Given the description of an element on the screen output the (x, y) to click on. 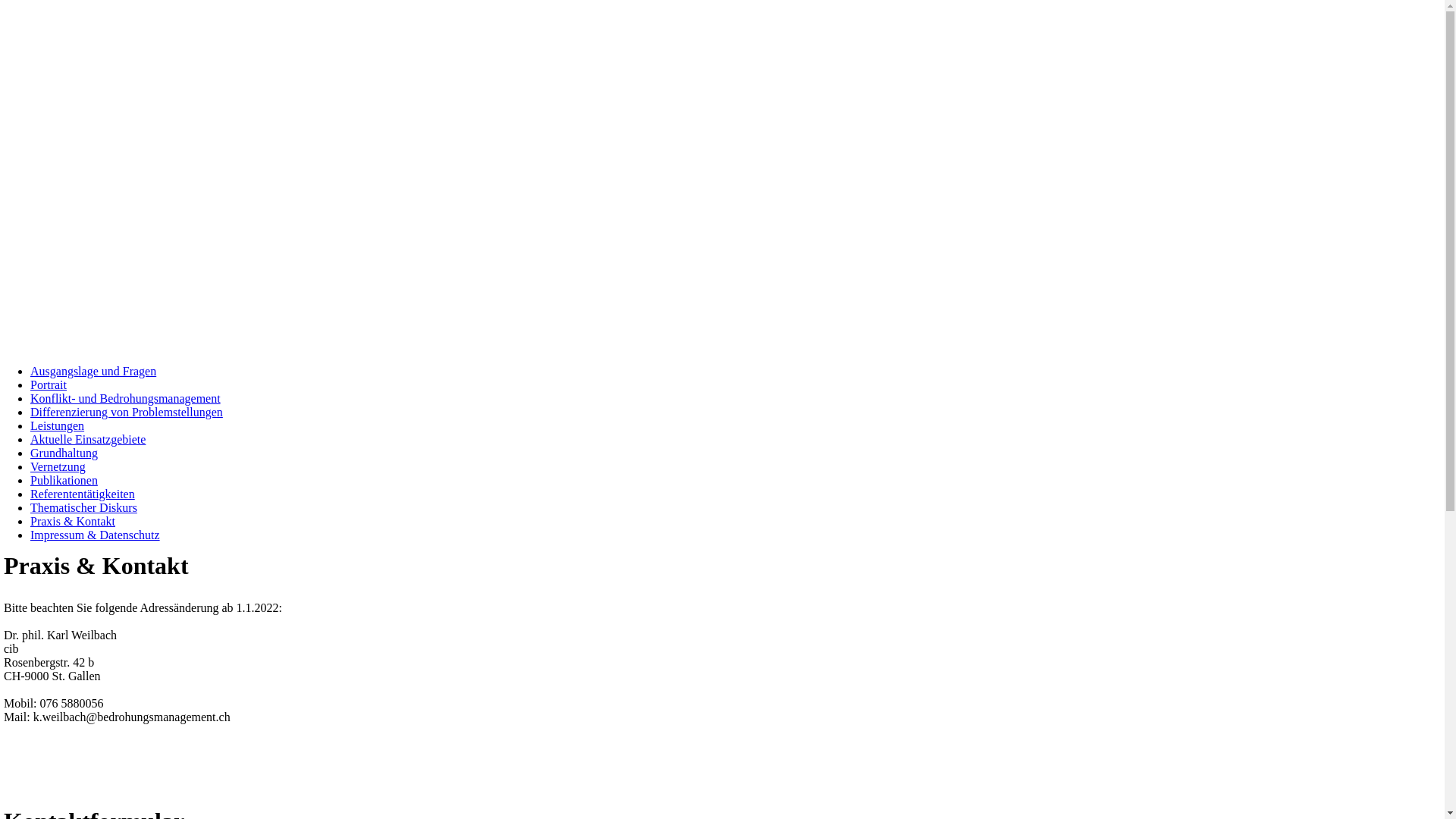
Grundhaltung Element type: text (63, 452)
Differenzierung von Problemstellungen Element type: text (126, 411)
Aktuelle Einsatzgebiete Element type: text (87, 439)
Praxis & Kontakt Element type: text (72, 520)
Konflikt- und Bedrohungsmanagement Element type: text (125, 398)
Impressum & Datenschutz Element type: text (95, 534)
Leistungen Element type: text (57, 425)
Ausgangslage und Fragen Element type: text (93, 370)
Thematischer Diskurs Element type: text (83, 507)
Portrait Element type: text (48, 384)
Publikationen Element type: text (63, 479)
Vernetzung Element type: text (57, 466)
